Given the description of an element on the screen output the (x, y) to click on. 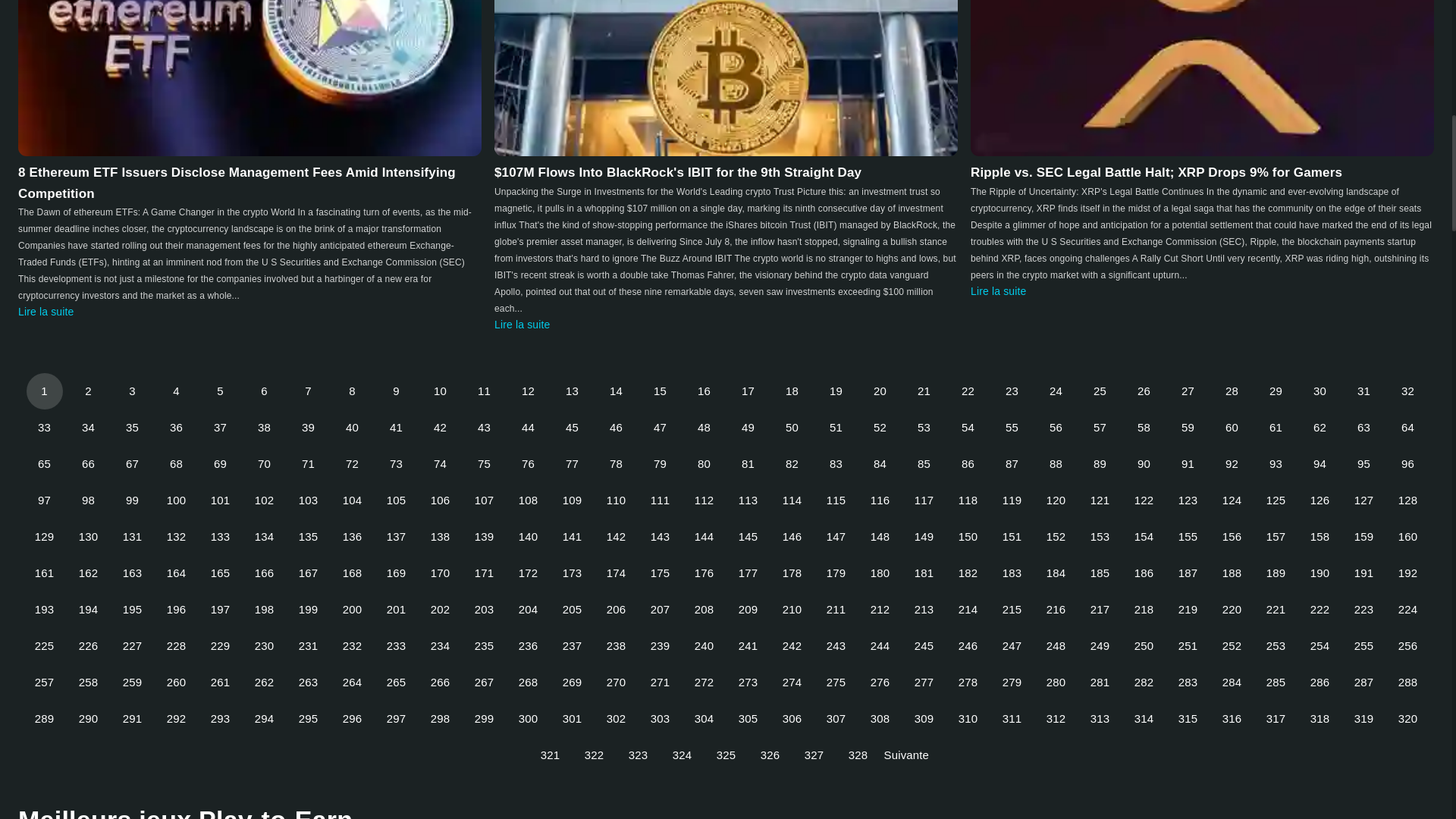
3 (131, 391)
1 (44, 391)
Play To Earn Gaming News - Page 1 of 328 (44, 391)
Lire la suite (45, 311)
Lire la suite (522, 324)
2 (87, 391)
Lire la suite (998, 291)
